Given the description of an element on the screen output the (x, y) to click on. 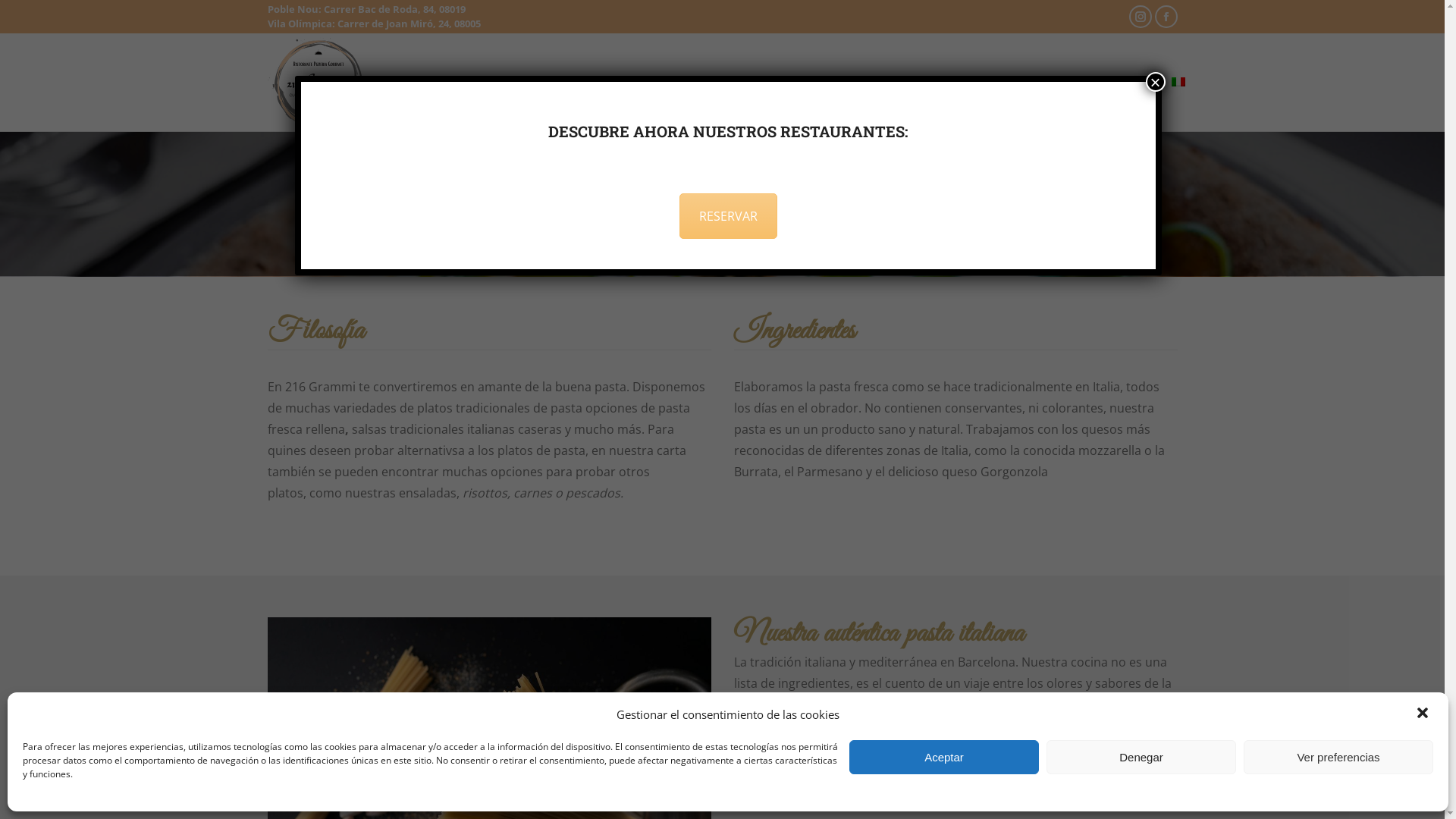
Ofertas del Mes Element type: text (423, 81)
Carta Element type: text (505, 81)
Ver preferencias Element type: text (1338, 757)
Aceptar Element type: text (943, 757)
Denegar Element type: text (1141, 757)
Facebook page opens in new window Element type: text (1165, 16)
Contacto Element type: text (1001, 81)
A domicilio Element type: text (785, 81)
Instagram page opens in new window Element type: text (1139, 16)
Inicio Element type: text (653, 215)
Restaurantes Element type: text (586, 81)
Sobre nosotros Element type: text (690, 81)
Reserva Element type: text (924, 81)
RESERVAR Element type: text (728, 215)
